Given the description of an element on the screen output the (x, y) to click on. 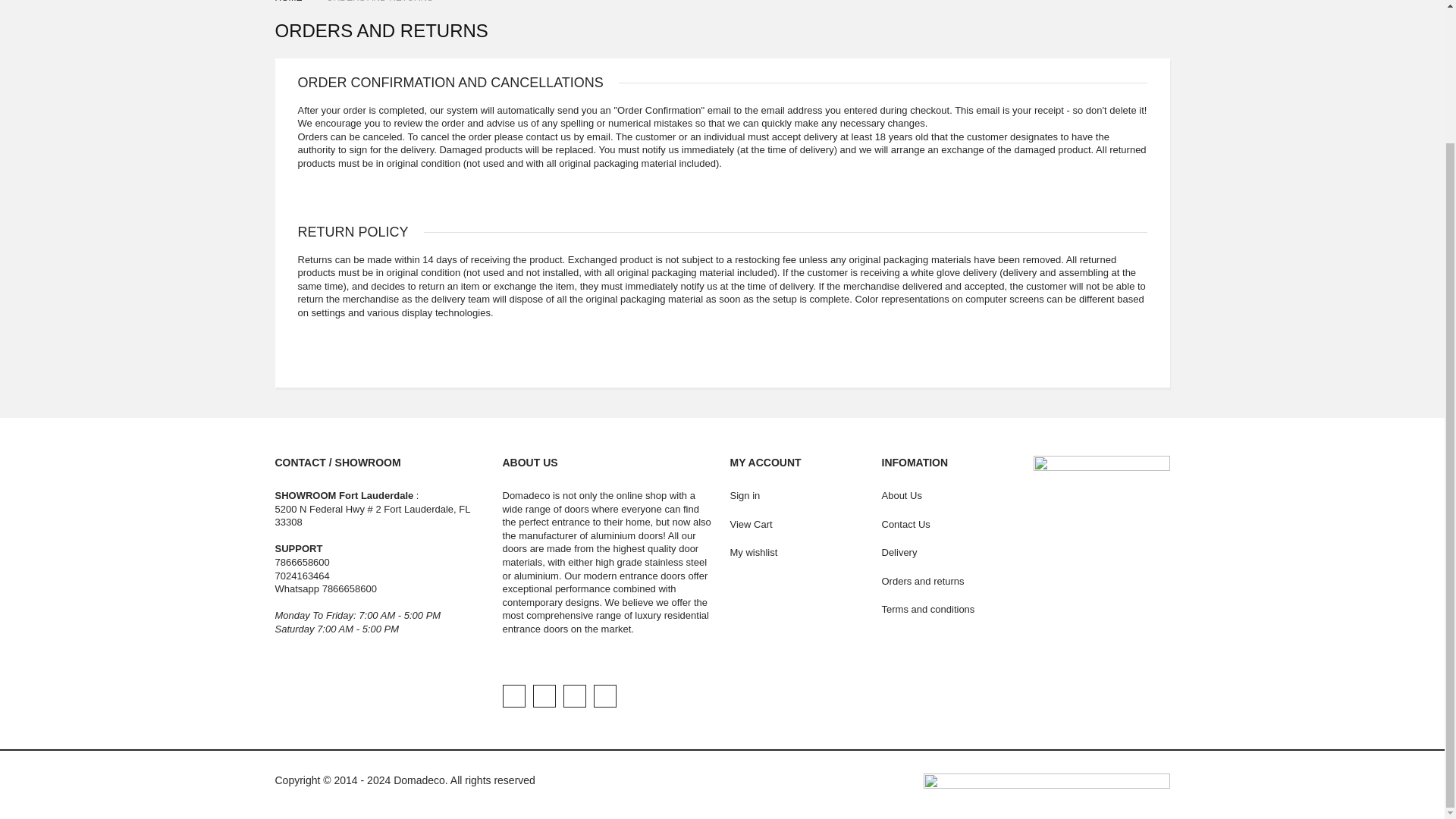
Go to Home Page (289, 1)
